Given the description of an element on the screen output the (x, y) to click on. 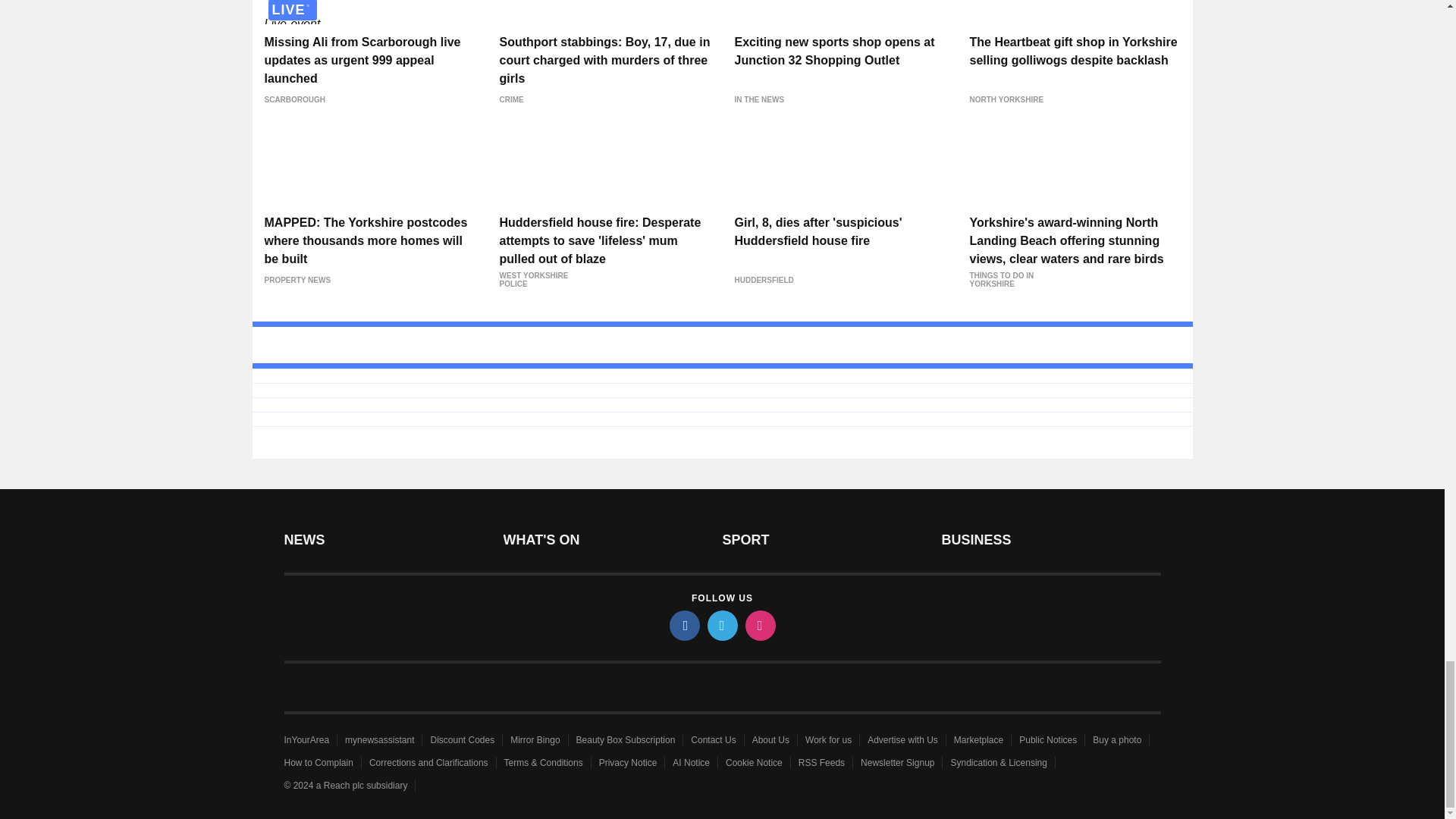
twitter (721, 625)
facebook (683, 625)
instagram (759, 625)
